Given the description of an element on the screen output the (x, y) to click on. 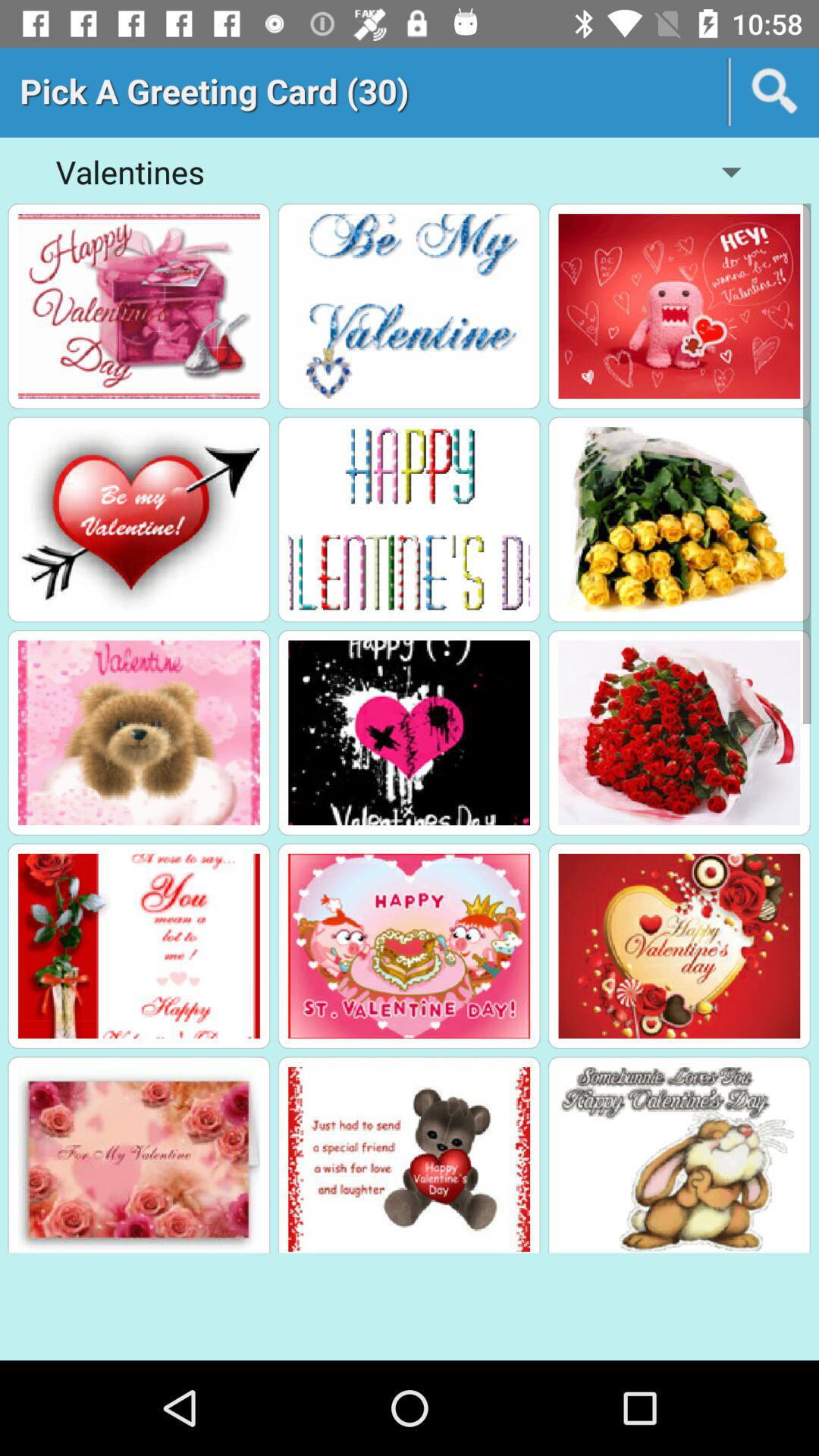
click the picture (138, 305)
